Given the description of an element on the screen output the (x, y) to click on. 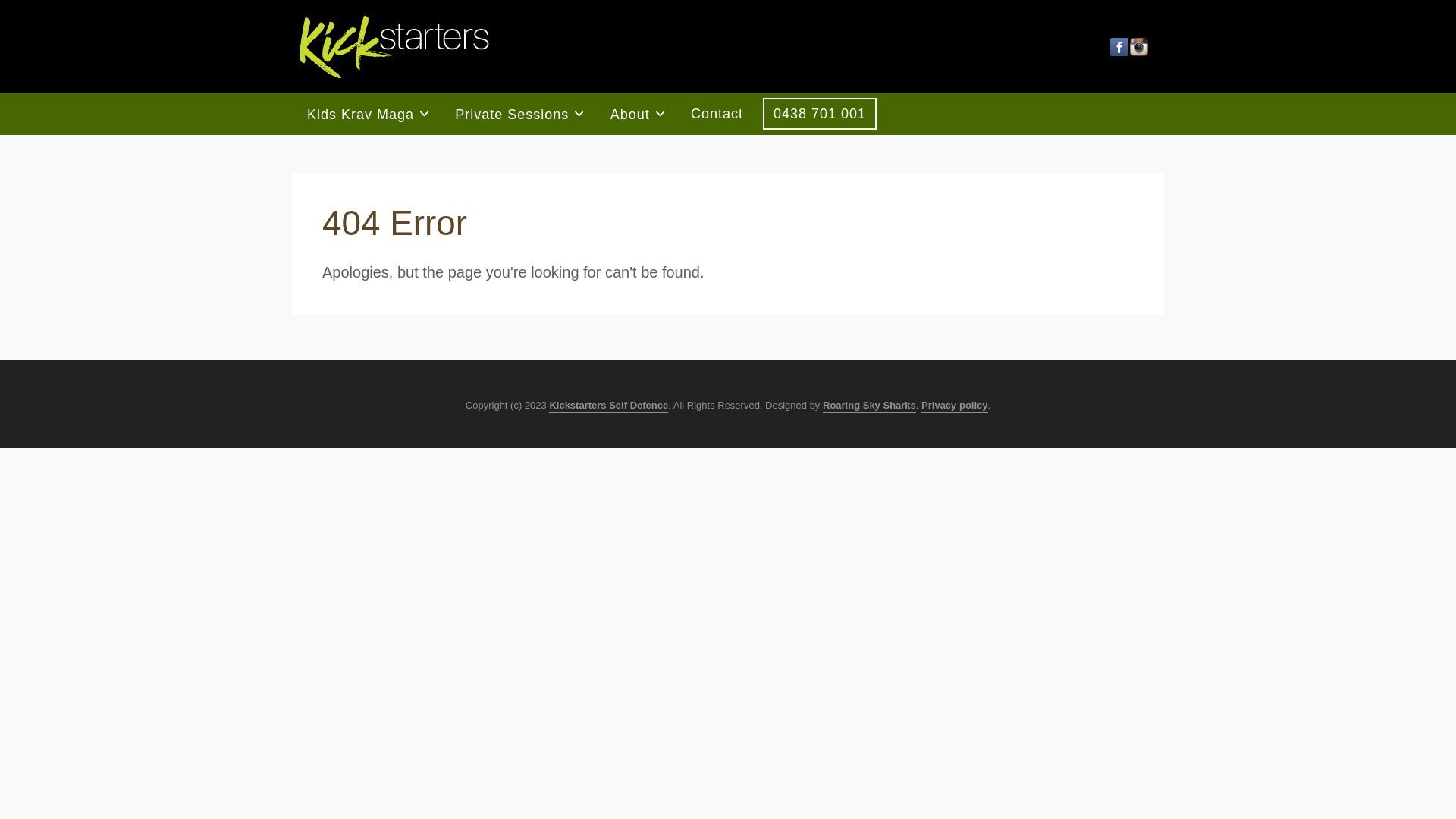
Contact Element type: text (716, 113)
About Element type: text (635, 113)
Private Sessions Element type: text (516, 113)
Kickstarters Element type: hover (394, 46)
Privacy policy Element type: text (954, 405)
Roaring Sky Sharks Element type: text (869, 405)
Kids Krav Maga Element type: text (365, 113)
Kickstarters Self Defence Element type: text (608, 405)
Instagram Element type: text (1138, 46)
0438 701 001 Element type: text (819, 113)
Facebook Element type: text (1119, 46)
